Given the description of an element on the screen output the (x, y) to click on. 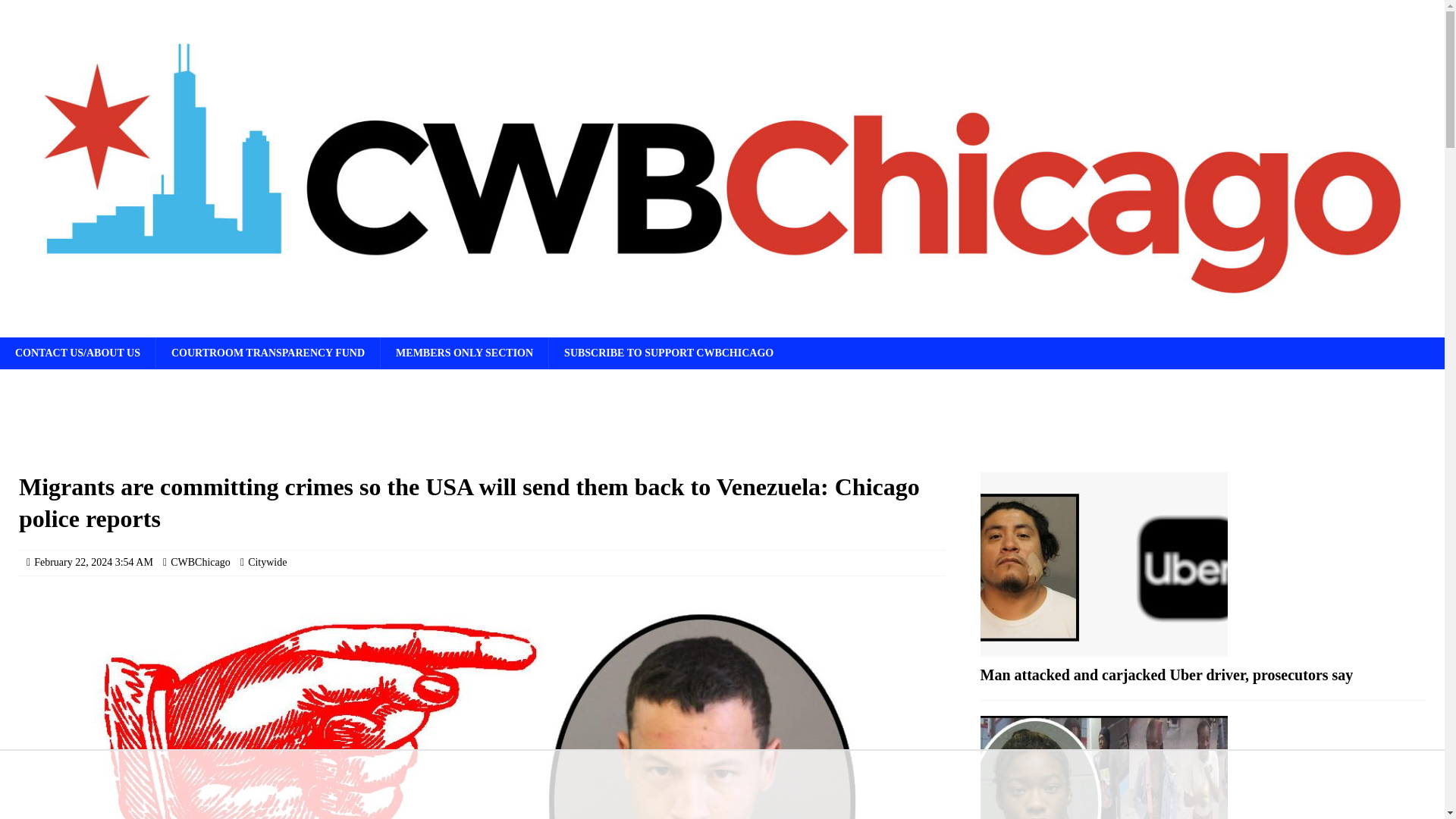
Citywide (266, 562)
February 22, 2024 3:54 AM (92, 562)
Man attacked and carjacked Uber driver, prosecutors say (1166, 674)
Man attacked and carjacked Uber driver, prosecutors say (1166, 674)
COURTROOM TRANSPARENCY FUND (267, 353)
MEMBERS ONLY SECTION (464, 353)
CWBChicago (200, 562)
Man attacked and carjacked Uber driver, prosecutors say (1202, 564)
SUBSCRIBE TO SUPPORT CWBCHICAGO (668, 353)
